Given the description of an element on the screen output the (x, y) to click on. 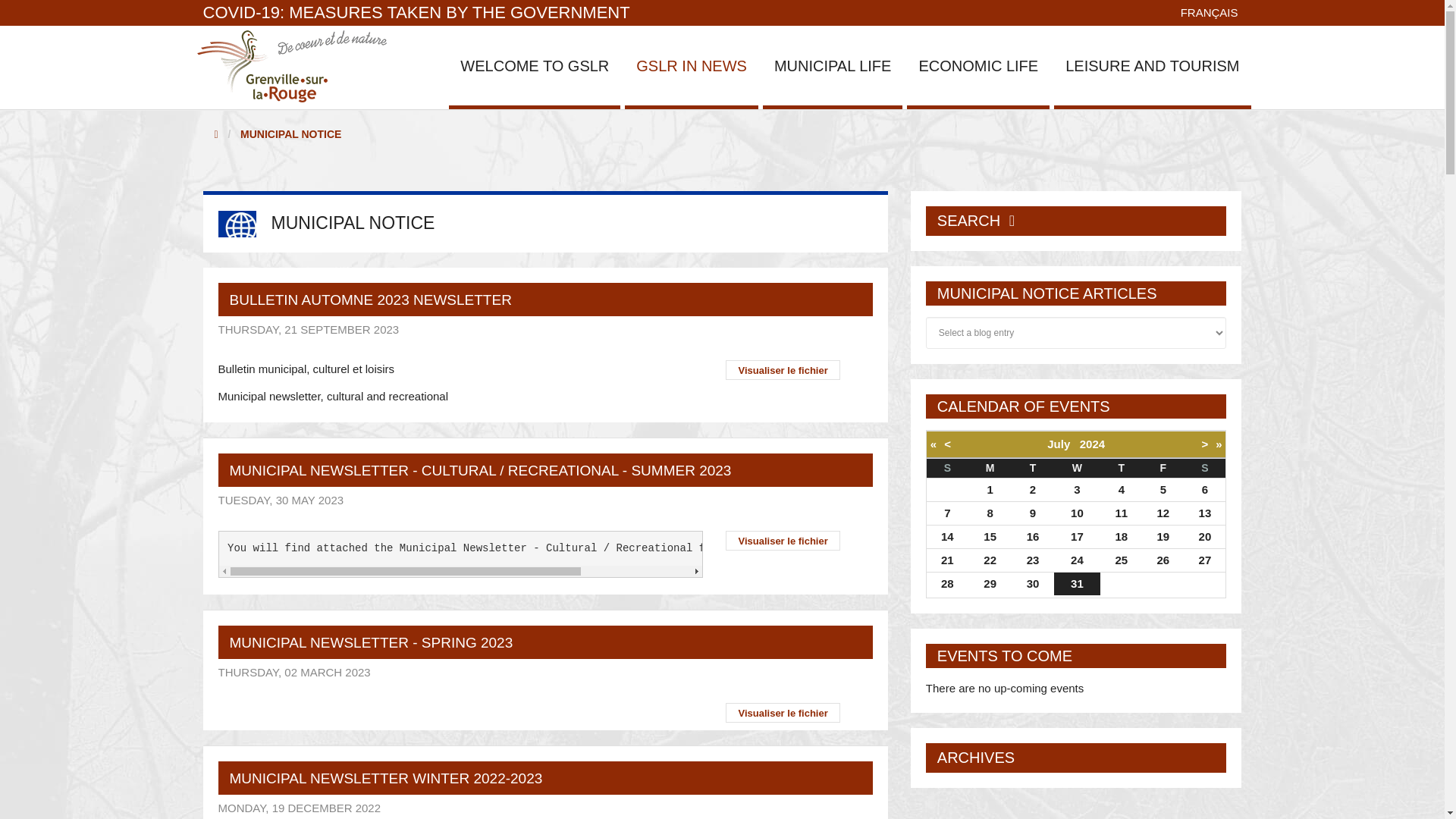
COVID-19: MEASURES TAKEN BY THE GOVERNMENT (416, 12)
Grenville-sur-la-Rouge (290, 65)
